Given the description of an element on the screen output the (x, y) to click on. 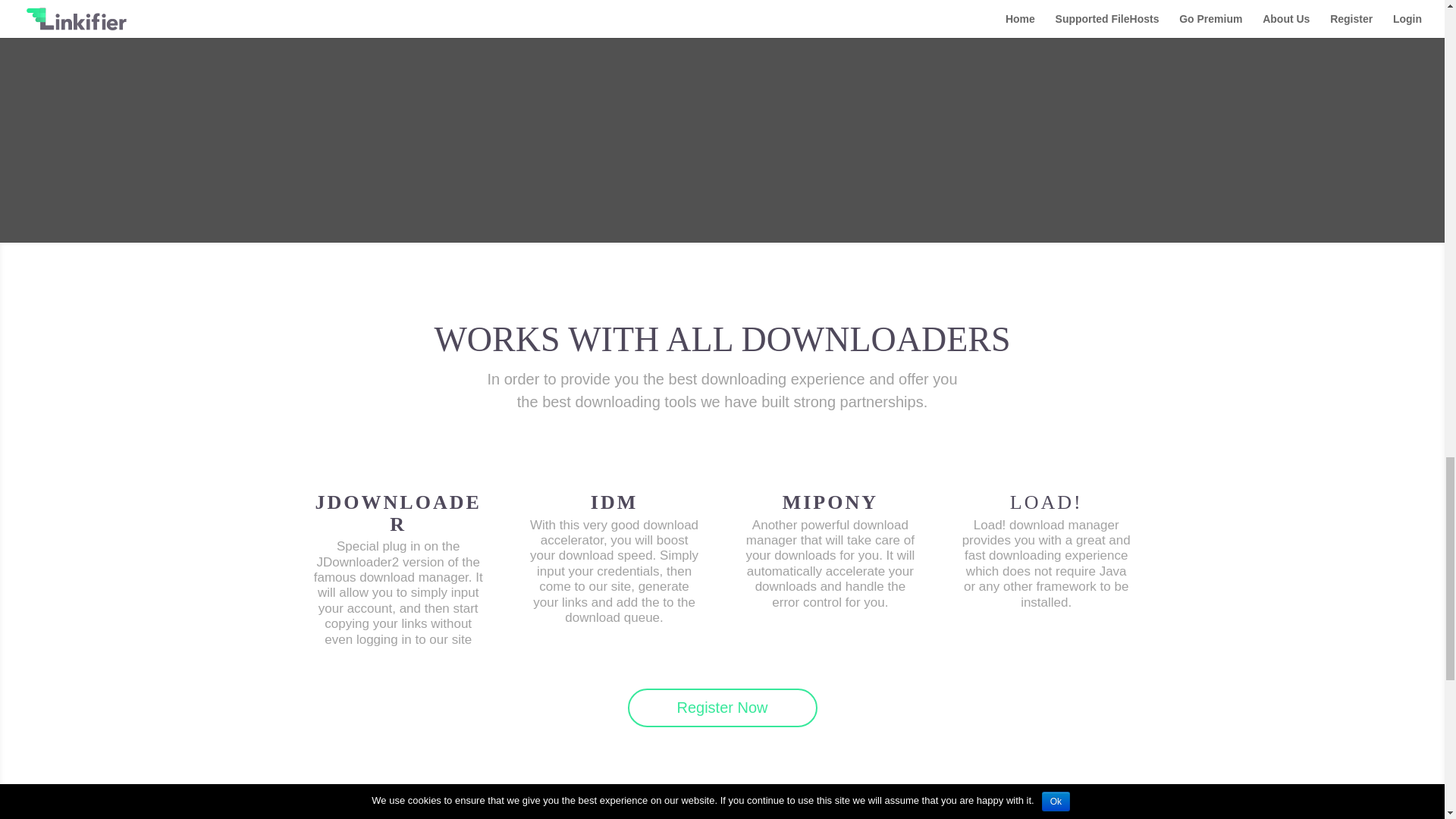
LOAD! (1046, 502)
IDM (614, 502)
MIPONY (830, 502)
Register Now (721, 707)
JDOWNLOADER (398, 513)
